Given the description of an element on the screen output the (x, y) to click on. 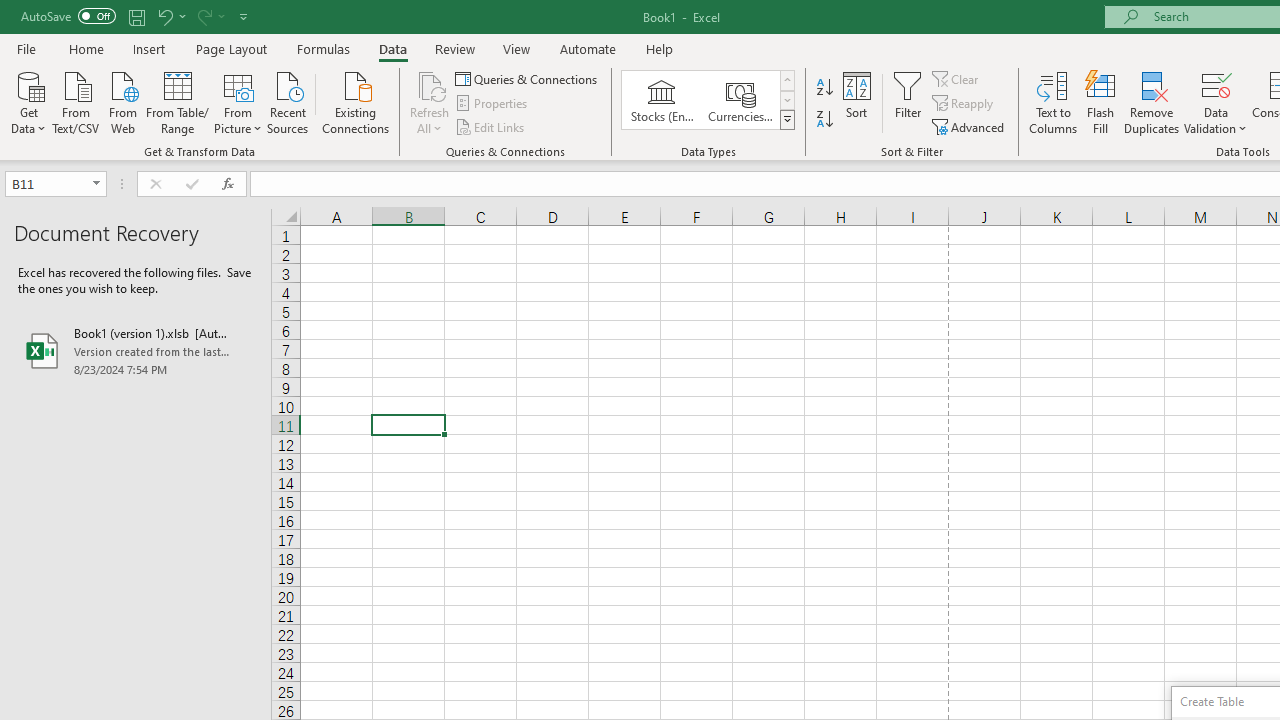
Properties (492, 103)
Automate (588, 48)
Sort Z to A (824, 119)
From Picture (238, 101)
Text to Columns... (1053, 102)
Sort... (856, 102)
Advanced... (970, 126)
Reapply (964, 103)
Flash Fill (1101, 102)
